Given the description of an element on the screen output the (x, y) to click on. 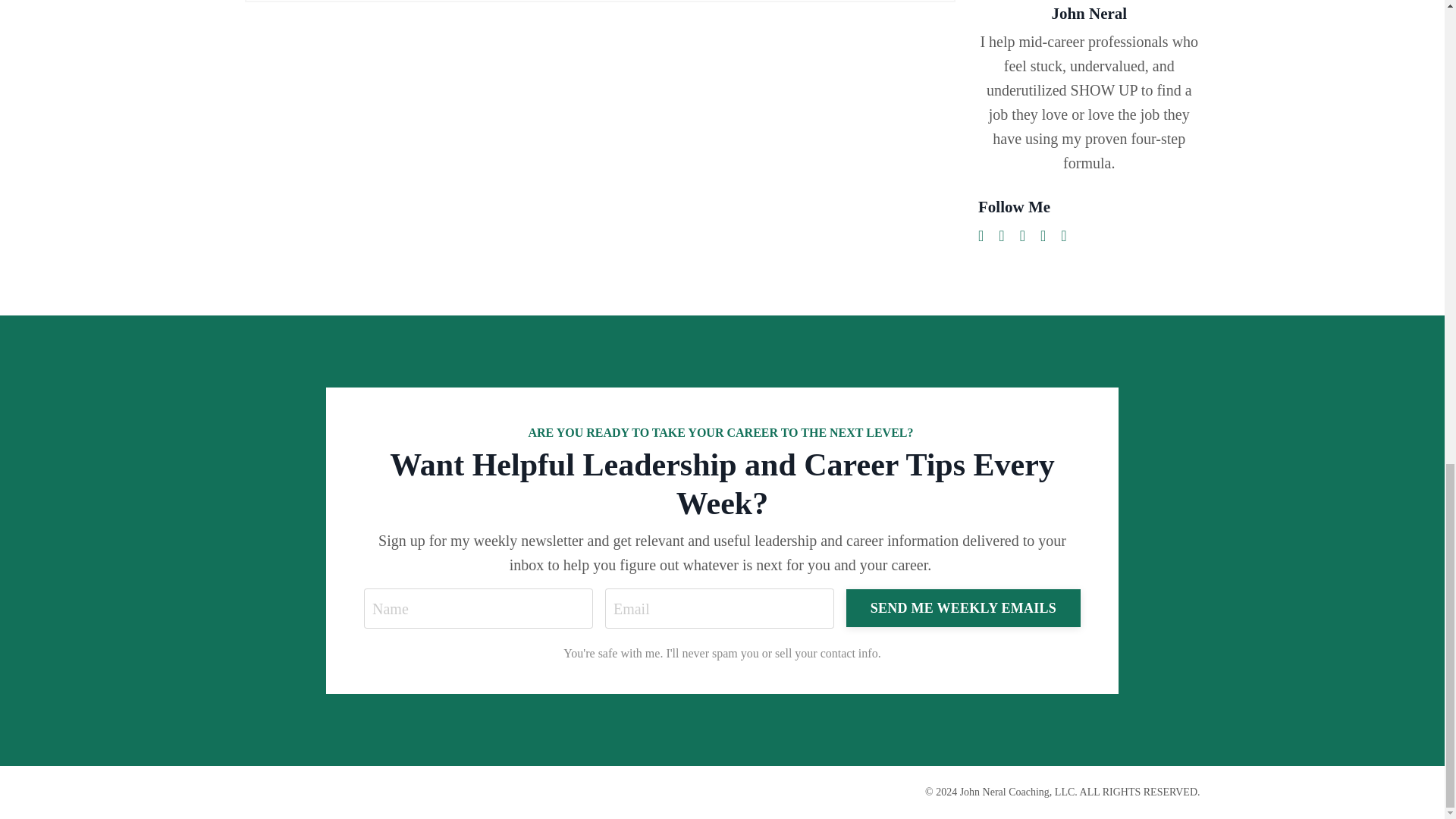
SEND ME WEEKLY EMAILS (962, 607)
